Given the description of an element on the screen output the (x, y) to click on. 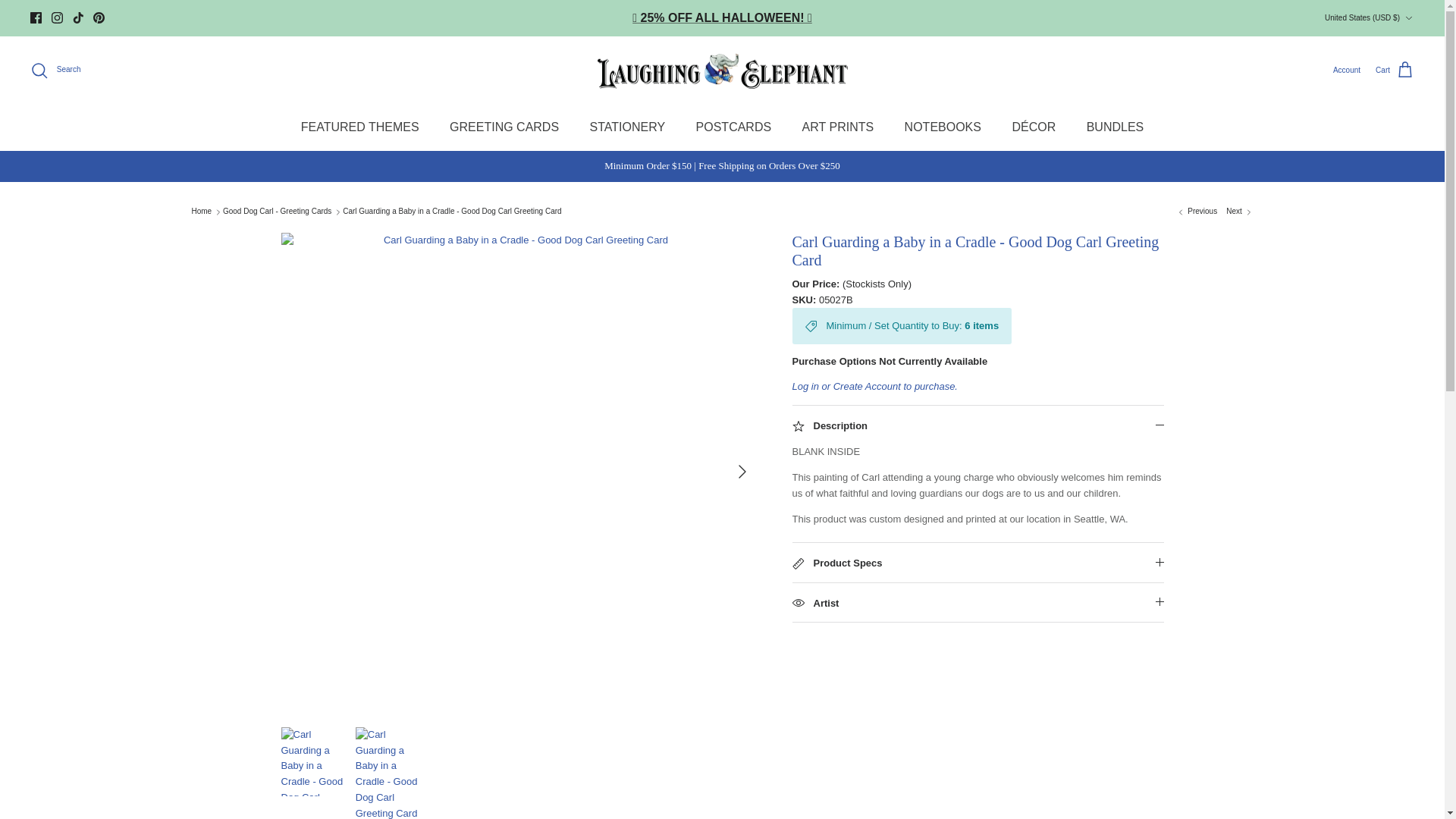
Instagram (56, 17)
Pinterest (98, 17)
RIGHT (741, 471)
Facebook (36, 17)
Down (1408, 18)
Instagram (56, 17)
Halloween (721, 17)
Pinterest (98, 17)
